Given the description of an element on the screen output the (x, y) to click on. 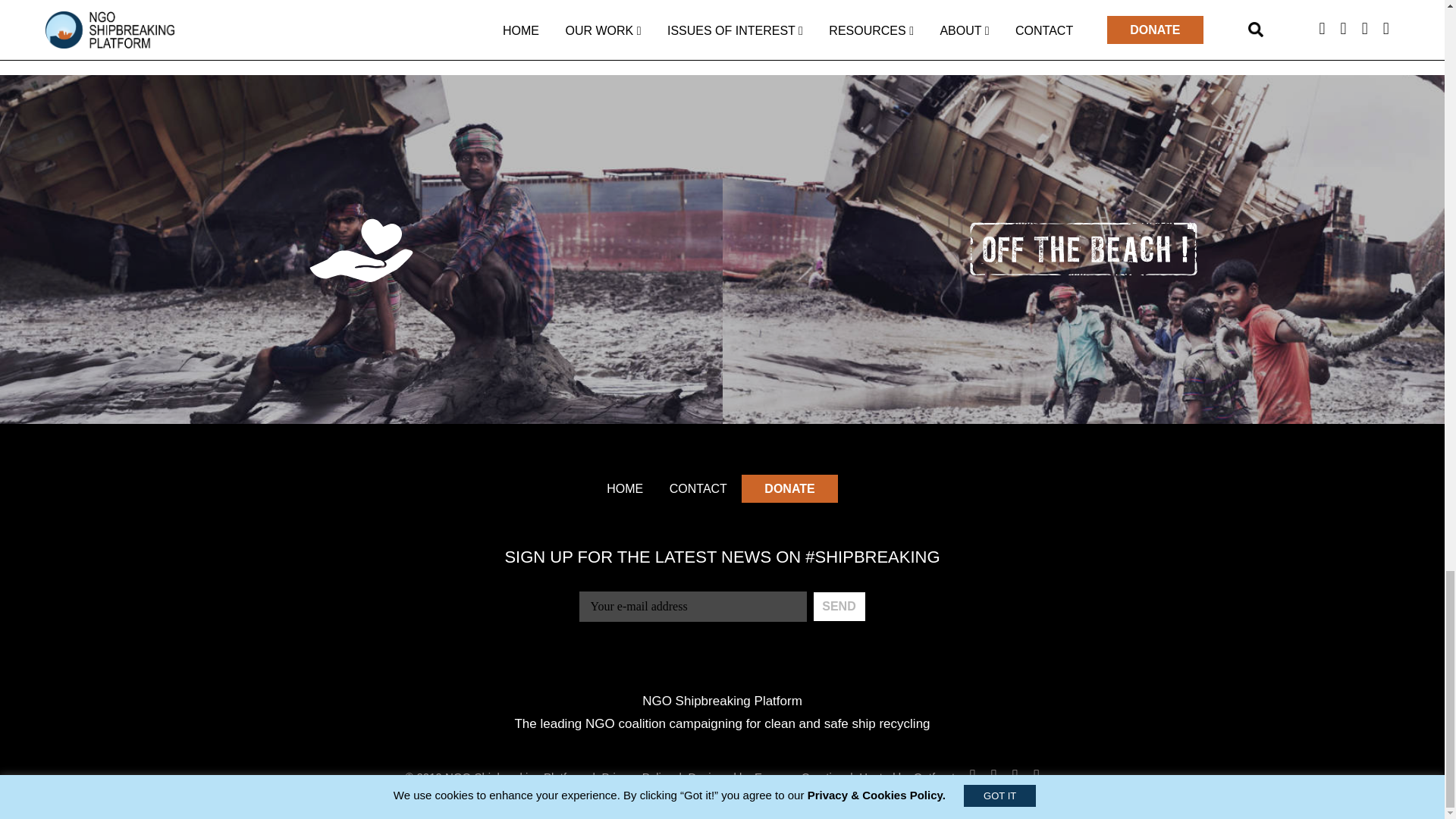
Send (839, 606)
